Given the description of an element on the screen output the (x, y) to click on. 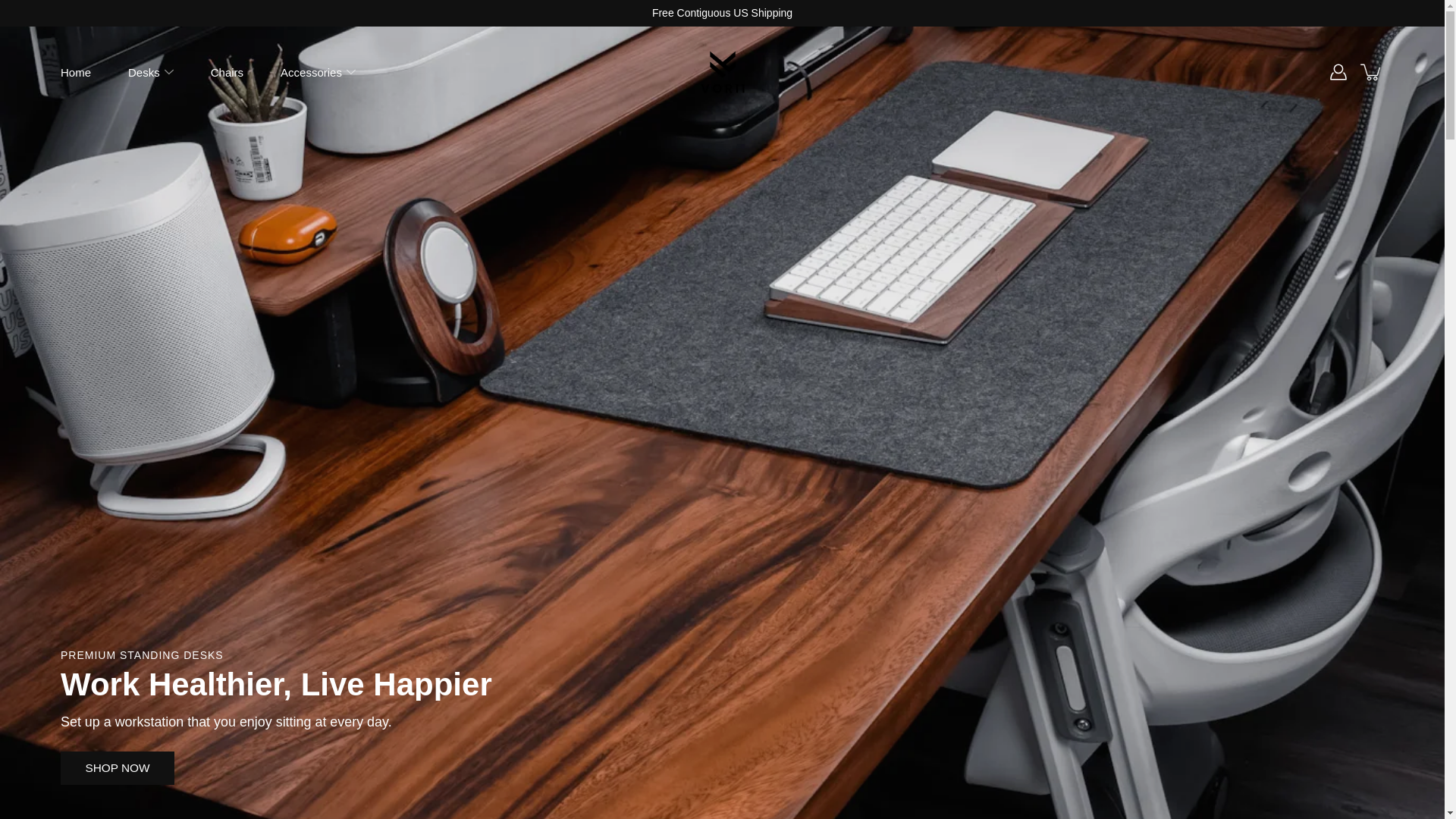
Home (75, 71)
Accessories (311, 71)
SHOP NOW (117, 770)
Chairs (227, 71)
Desks (144, 71)
